Given the description of an element on the screen output the (x, y) to click on. 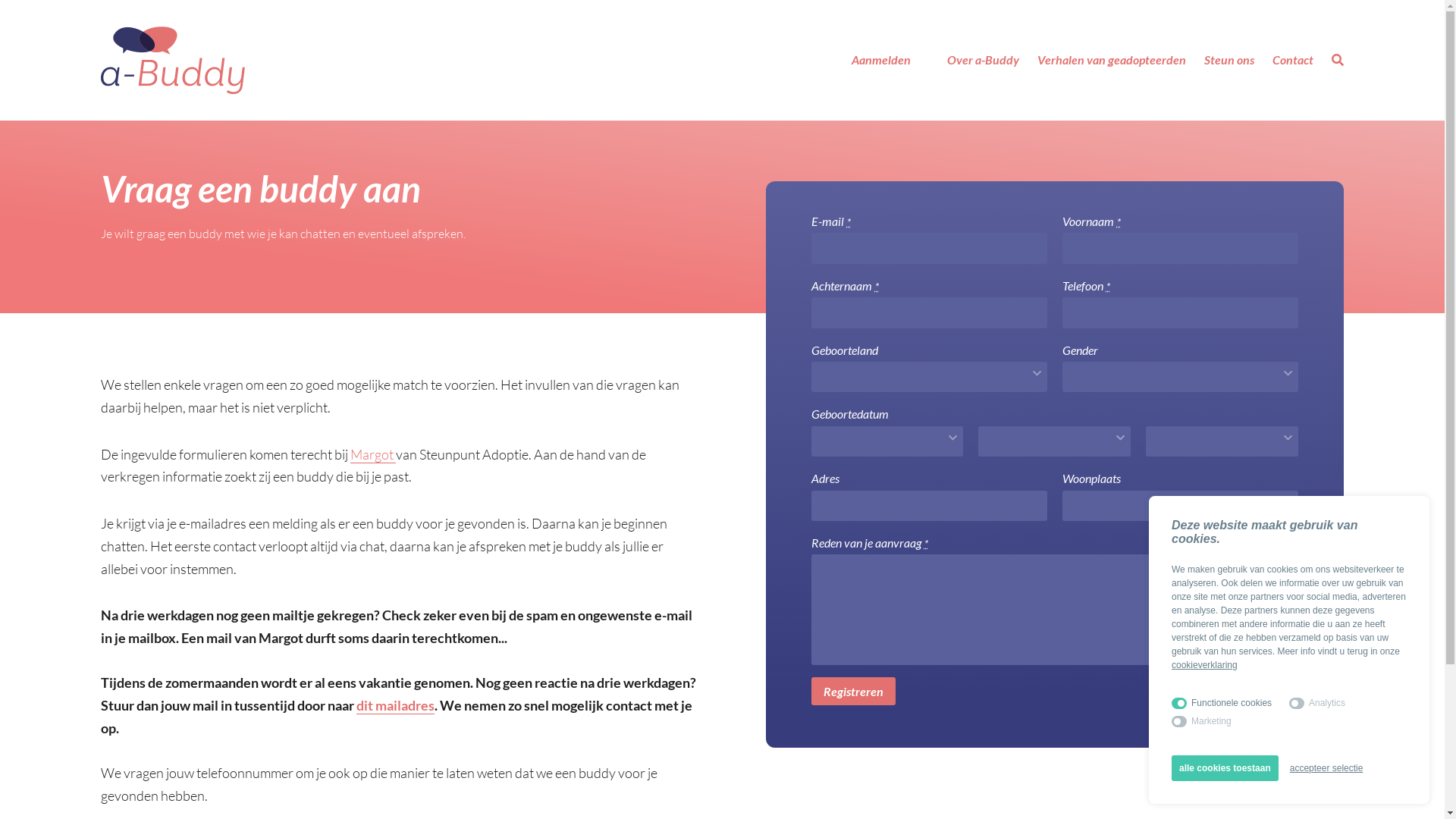
Over a-Buddy Element type: text (983, 59)
Aanmelden Element type: text (880, 59)
Contact Element type: text (1292, 59)
Margot Element type: text (372, 454)
Registreren Element type: text (853, 691)
Steun ons Element type: text (1229, 59)
Verhalen van geadopteerden Element type: text (1111, 59)
accepteer selectie Element type: text (1326, 768)
a-Buddy - Geadopteerd & op zoek naar een luisterend oor? Element type: text (172, 60)
dit mailadres Element type: text (395, 705)
cookieverklaring Element type: text (1204, 664)
alle cookies toestaan Element type: text (1224, 768)
